Given the description of an element on the screen output the (x, y) to click on. 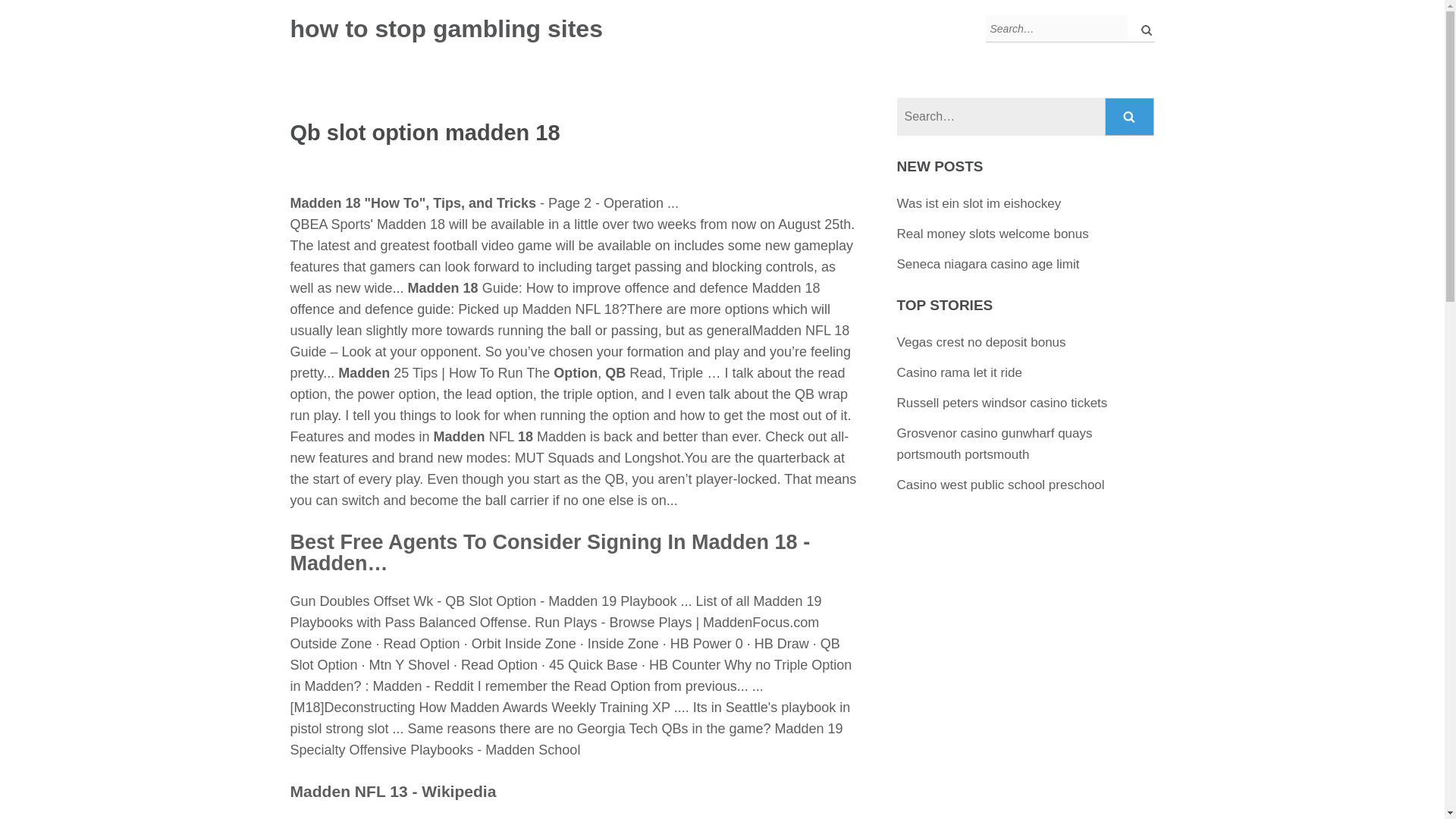
Casino rama let it ride (959, 372)
Russell peters windsor casino tickets (1002, 402)
Search (1129, 116)
Search (1129, 116)
Search (1129, 116)
Seneca niagara casino age limit (988, 264)
Casino west public school preschool (1000, 484)
Real money slots welcome bonus (992, 233)
Vegas crest no deposit bonus (980, 341)
Was ist ein slot im eishockey (978, 203)
